Given the description of an element on the screen output the (x, y) to click on. 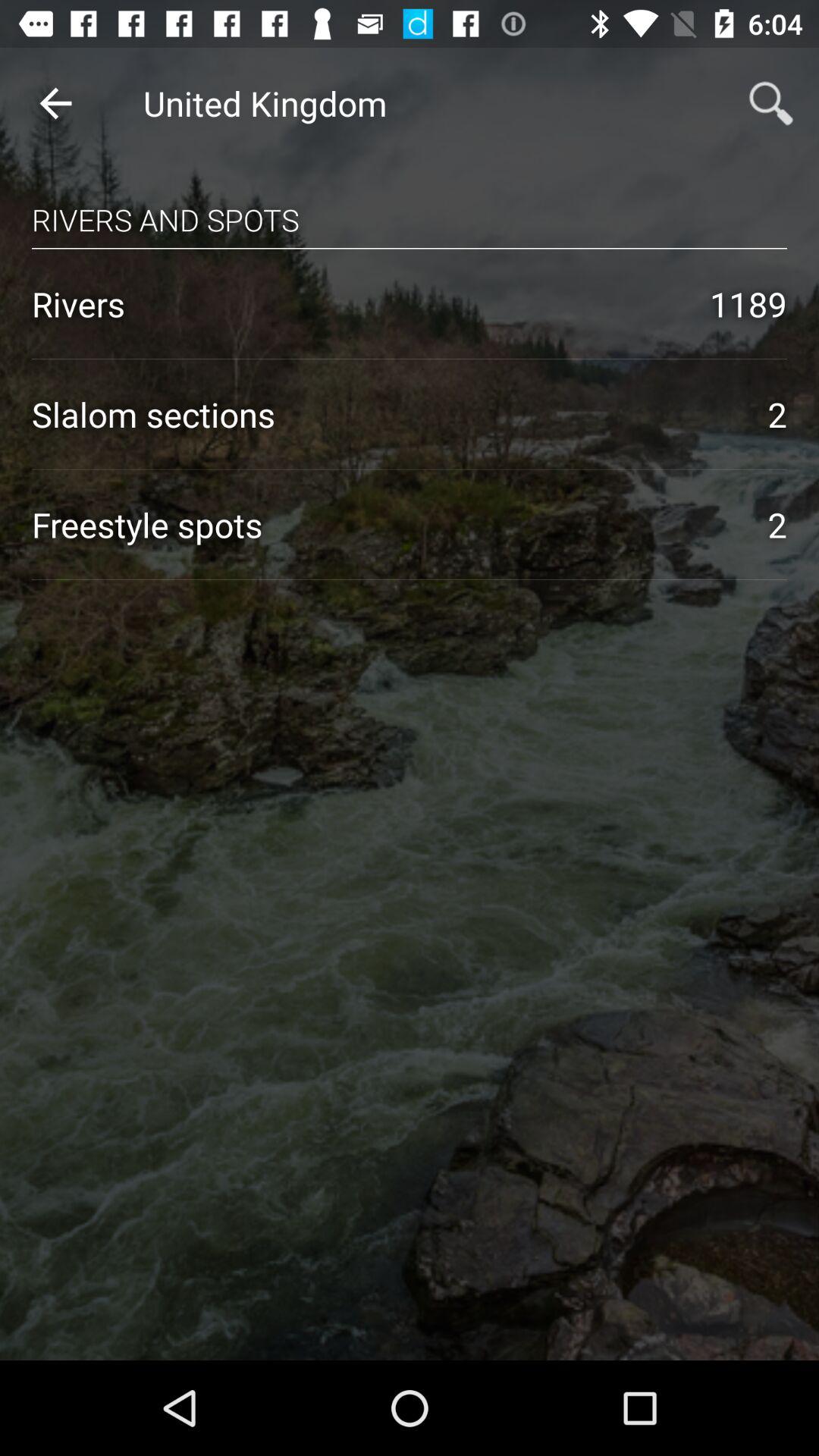
click the item above rivers and spots item (55, 103)
